Given the description of an element on the screen output the (x, y) to click on. 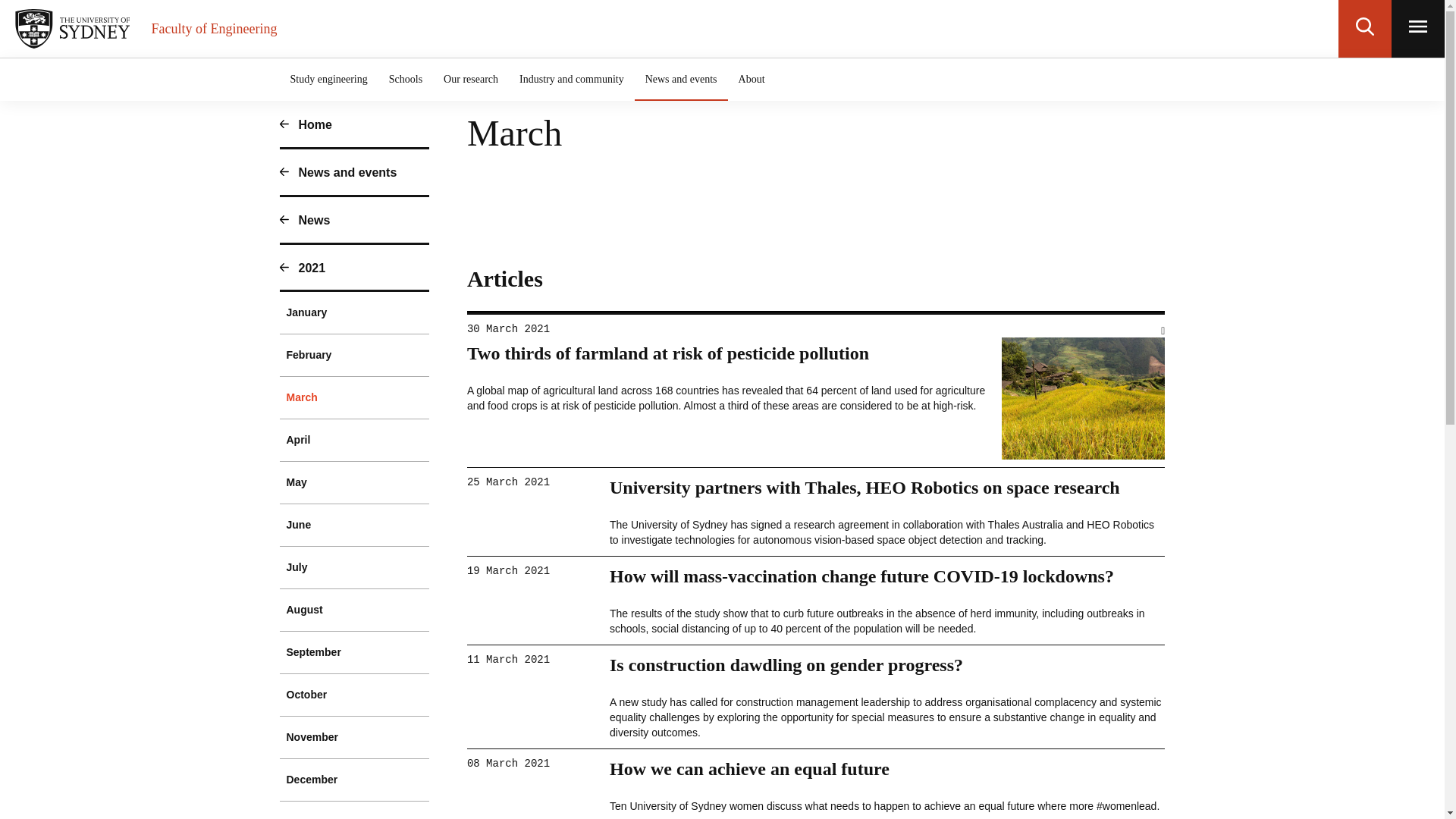
December (354, 779)
June (354, 525)
News (354, 220)
University of Sydney (75, 28)
About (752, 79)
Faculty of Engineering (213, 28)
January (354, 312)
May (354, 482)
News and events (681, 79)
